Given the description of an element on the screen output the (x, y) to click on. 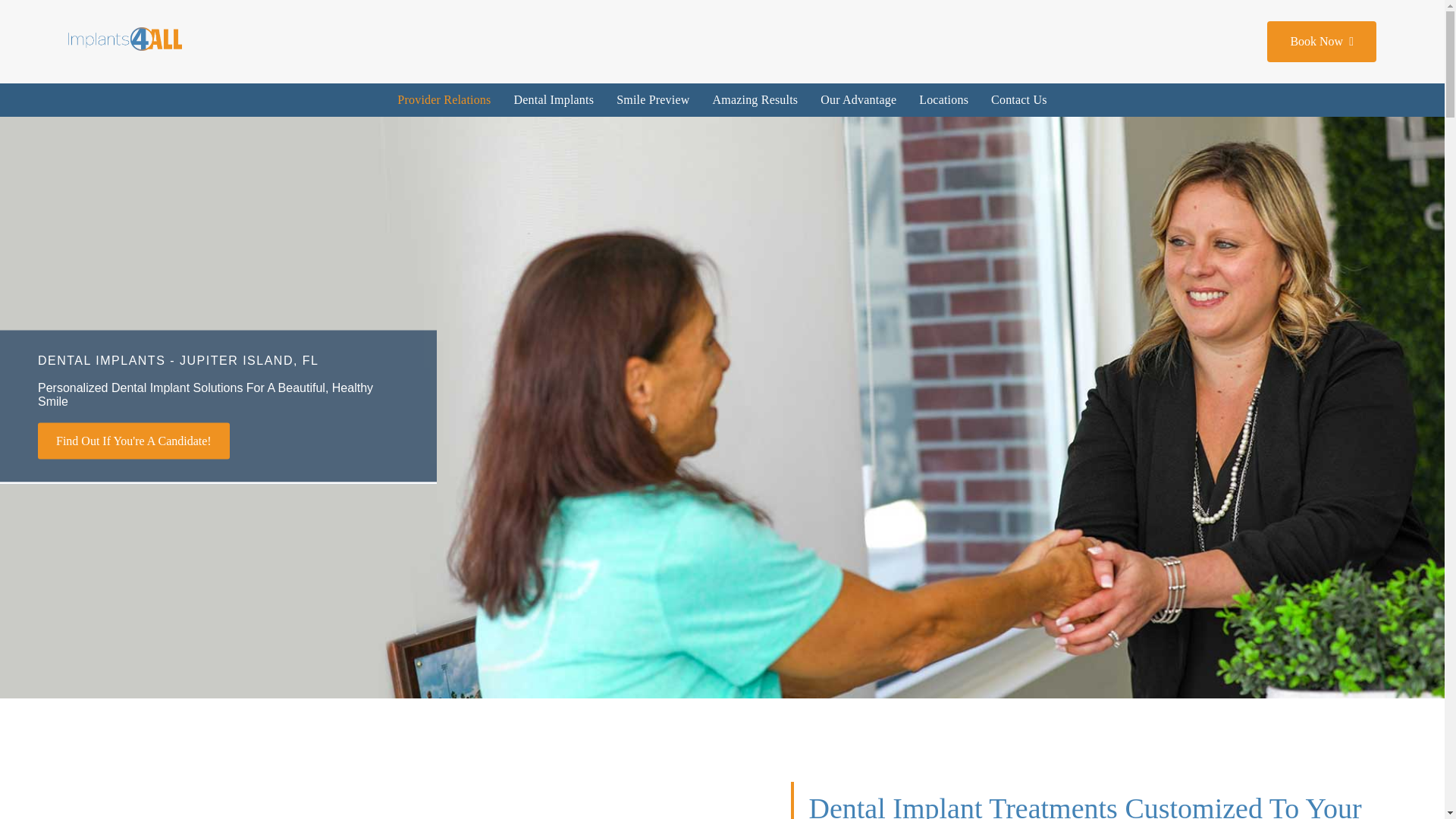
Provider Relations (443, 100)
Book Now (1320, 41)
Locations (943, 100)
Our Advantage (858, 100)
Amazing Results (755, 100)
Dental Implants (553, 100)
Smile Preview (652, 100)
Contact Us (1018, 100)
